Given the description of an element on the screen output the (x, y) to click on. 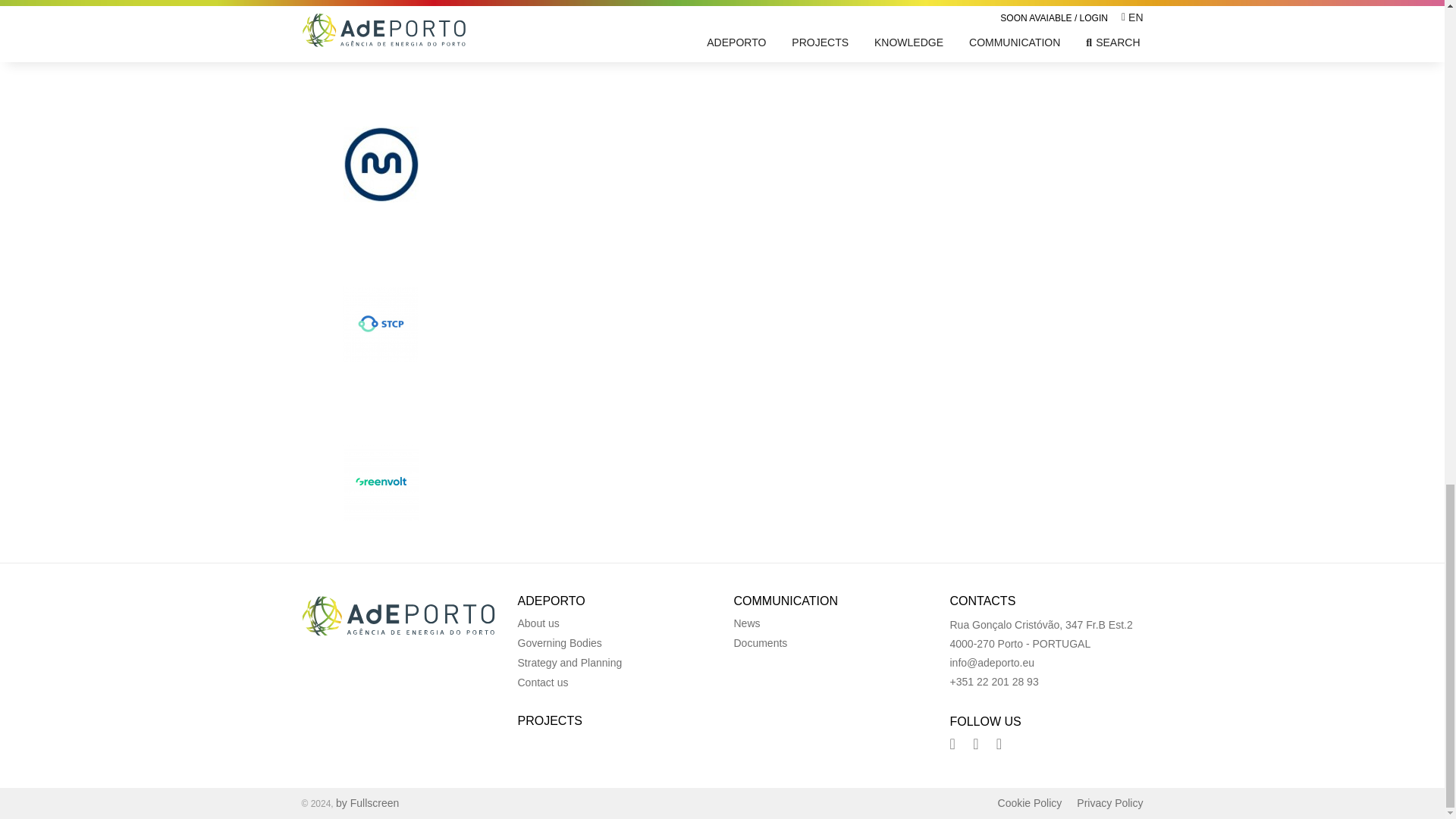
ENAEA 2018 (1009, 377)
Renewable electricity in Mainland Portugal (721, 377)
